Given the description of an element on the screen output the (x, y) to click on. 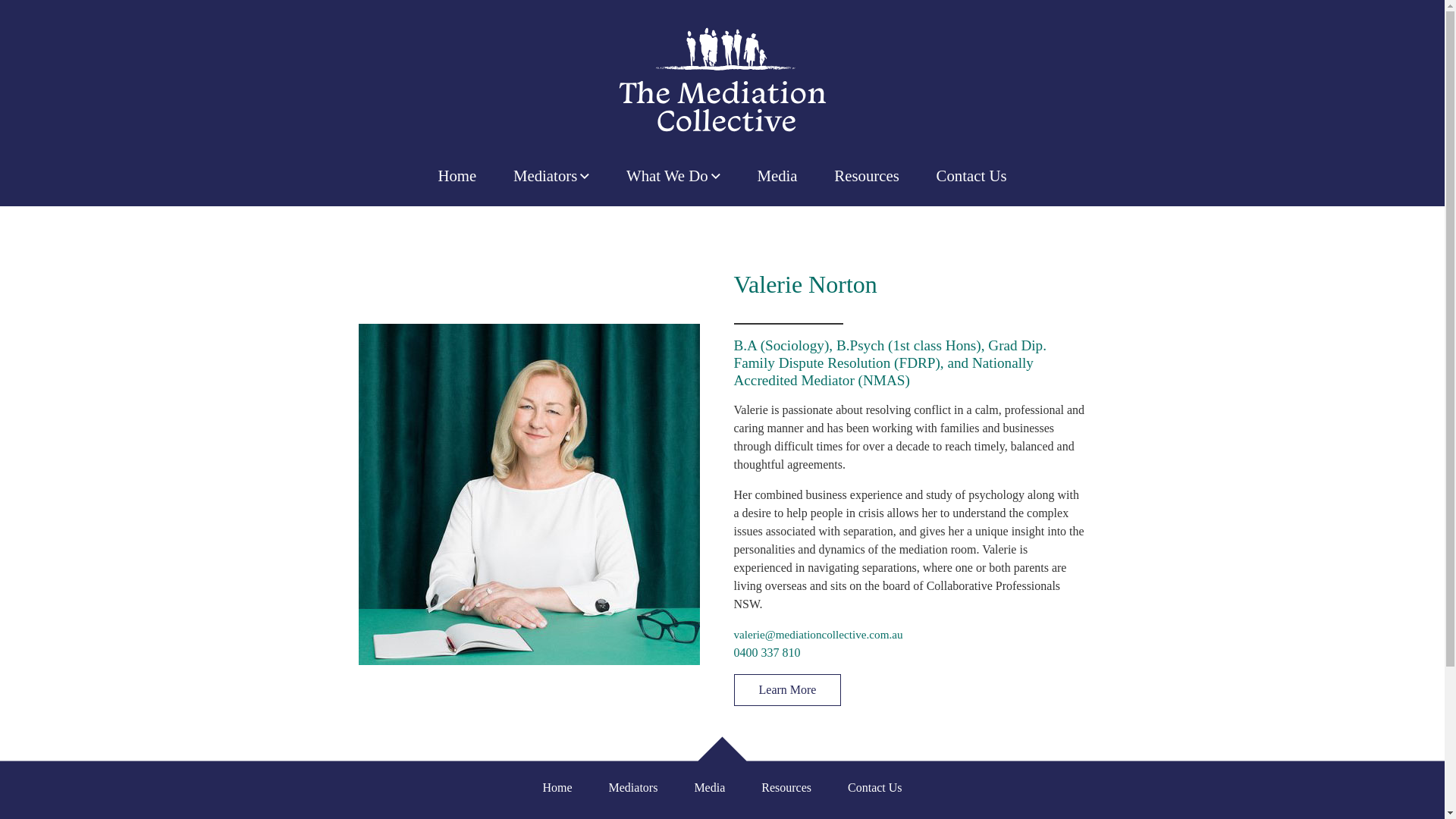
Media Element type: text (777, 175)
What We Do Element type: text (673, 175)
Resources Element type: text (786, 787)
Mediators Element type: text (633, 787)
0400 337 810 Element type: text (767, 652)
Mediators Element type: text (551, 175)
Learn More Element type: text (787, 690)
Contact Us Element type: text (970, 175)
valerie@mediationcollective.com.au Element type: text (818, 633)
Contact Us Element type: text (874, 787)
Home Element type: text (456, 175)
Media Element type: text (708, 787)
Resources Element type: text (866, 175)
Home Element type: text (556, 787)
